Given the description of an element on the screen output the (x, y) to click on. 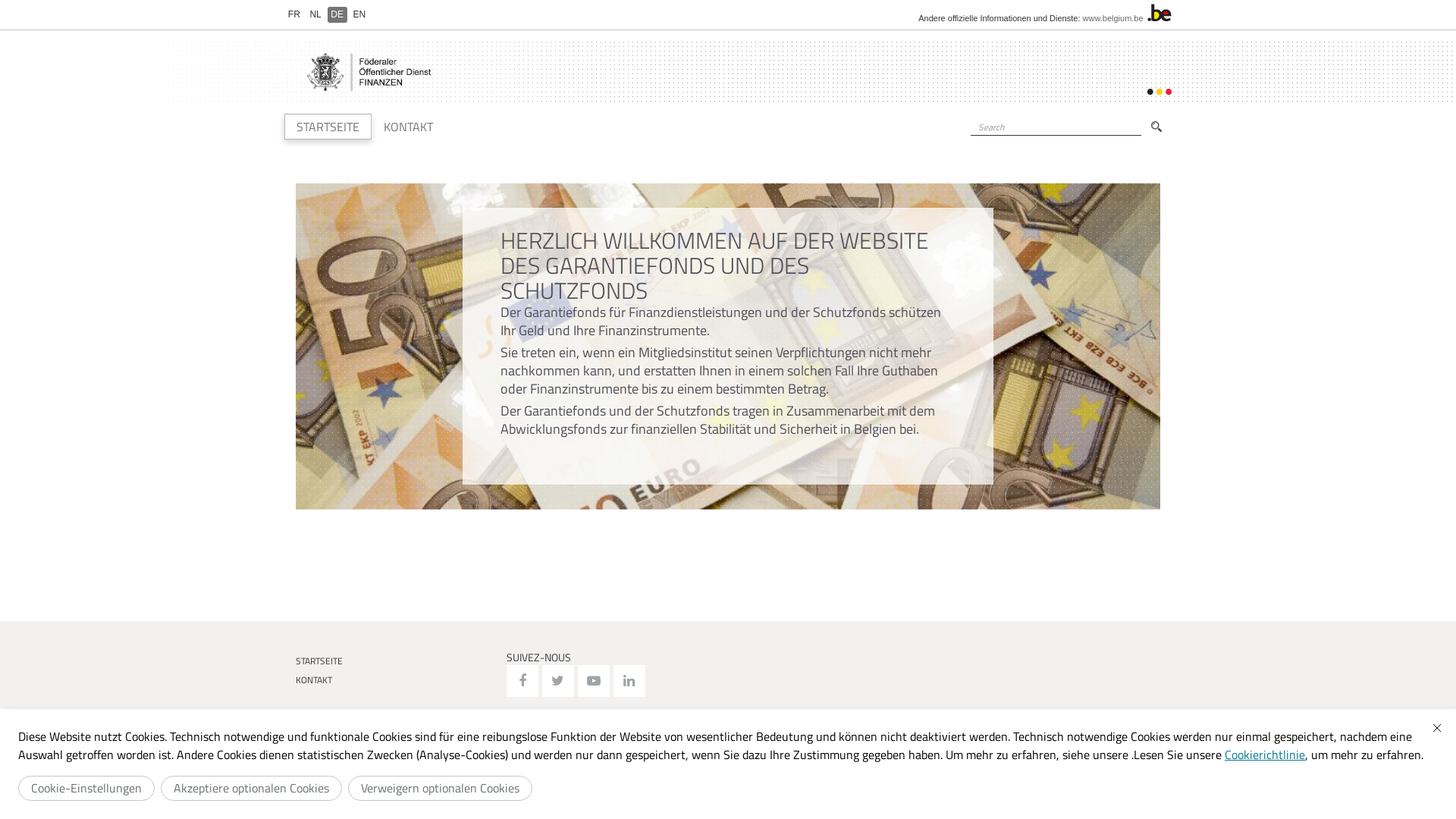
KONTAKT Element type: text (395, 679)
EN Element type: text (359, 13)
STARTSEITE Element type: text (327, 126)
Search Element type: text (974, 142)
STARTSEITE Element type: text (395, 660)
Verweigern optionalen Cookies Element type: text (440, 787)
Enter the terms you wish to search for. Element type: hover (1055, 127)
DE Element type: text (337, 13)
FR Element type: text (294, 13)
Akzeptiere optionalen Cookies Element type: text (251, 787)
Cookie-Einstellungen Element type: text (86, 787)
Skip to main content Element type: text (17, 0)
KONTAKT Element type: text (408, 126)
LinkedIn Element type: text (628, 680)
YouTube Element type: text (593, 680)
Search
Search Element type: text (1156, 126)
www.belgium.be Element type: text (1112, 17)
Facebook Element type: text (522, 680)
NL Element type: text (315, 13)
Twitter Element type: text (557, 680)
Return to the Garantiefonds homepage Element type: hover (369, 72)
Cookierichtlinie Element type: text (1264, 754)
